Given the description of an element on the screen output the (x, y) to click on. 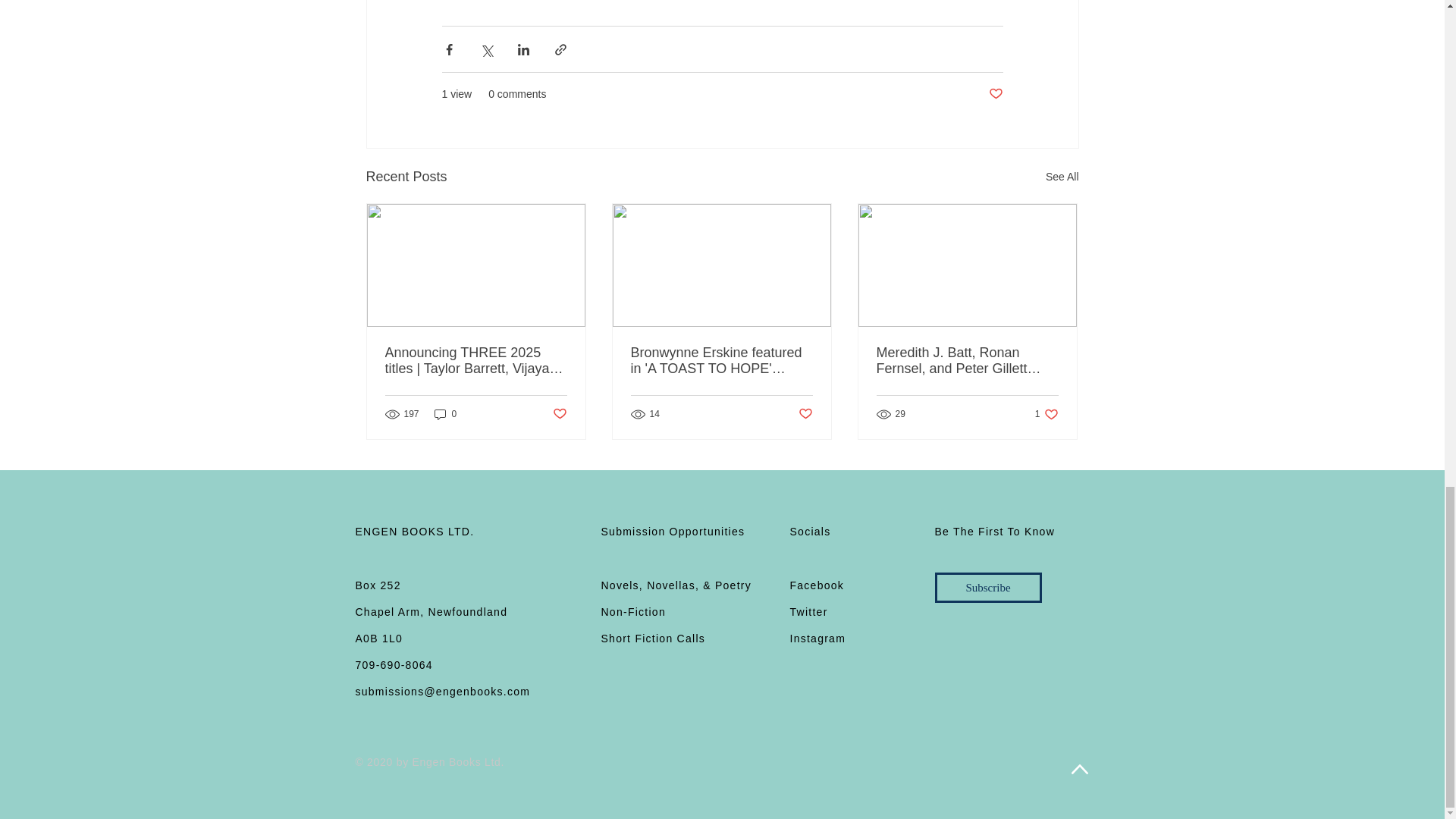
Post not marked as liked (558, 414)
See All (1061, 177)
0 (445, 414)
Post not marked as liked (995, 94)
